Given the description of an element on the screen output the (x, y) to click on. 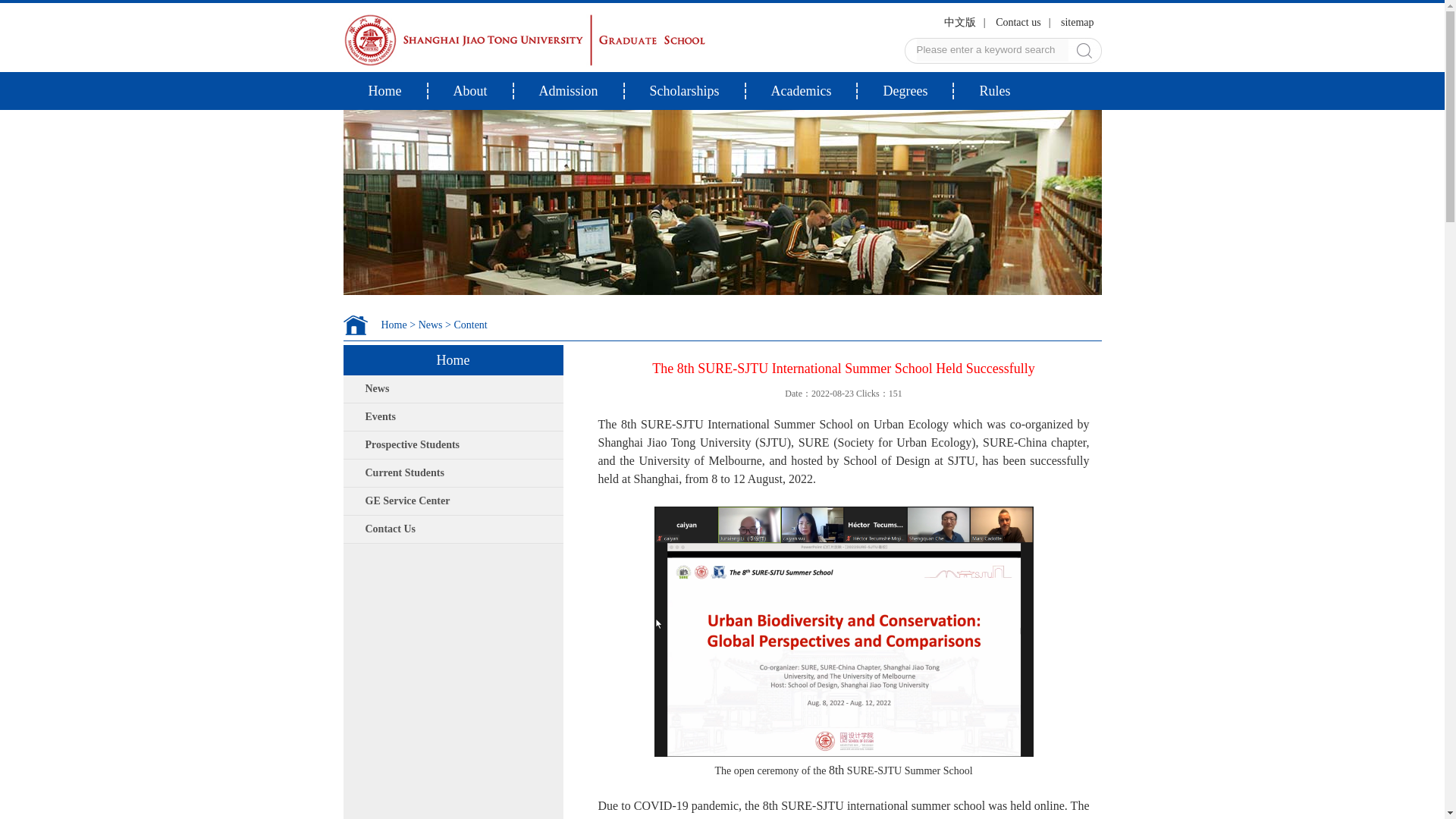
Academics (801, 90)
sitemap (1077, 21)
Contact us (1018, 21)
Degrees (904, 90)
Scholarships (684, 90)
About (470, 90)
Admission (568, 90)
Home (384, 90)
Please enter a keyword search (991, 49)
